Given the description of an element on the screen output the (x, y) to click on. 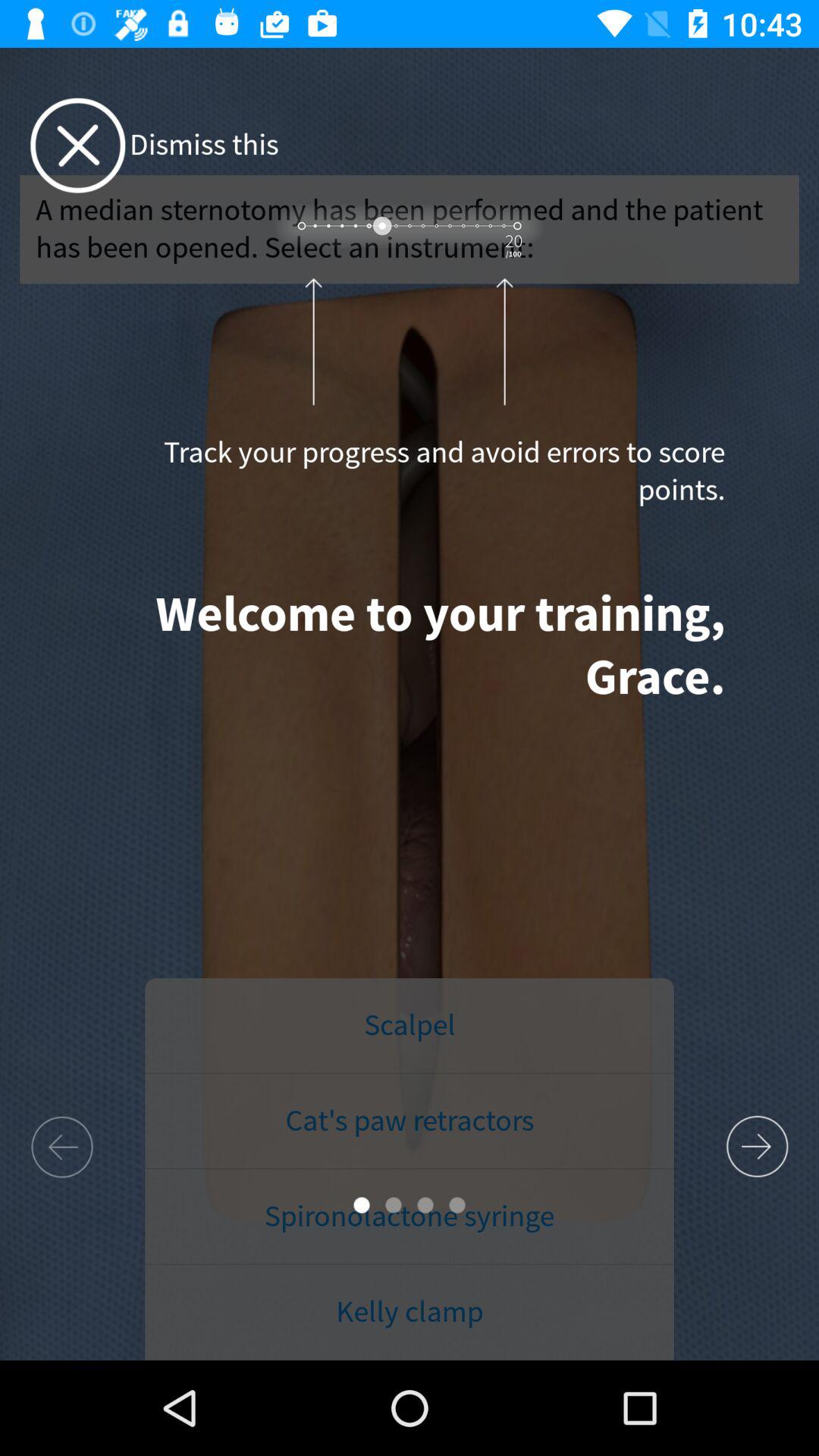
turn on the cat s paw icon (409, 1121)
